Given the description of an element on the screen output the (x, y) to click on. 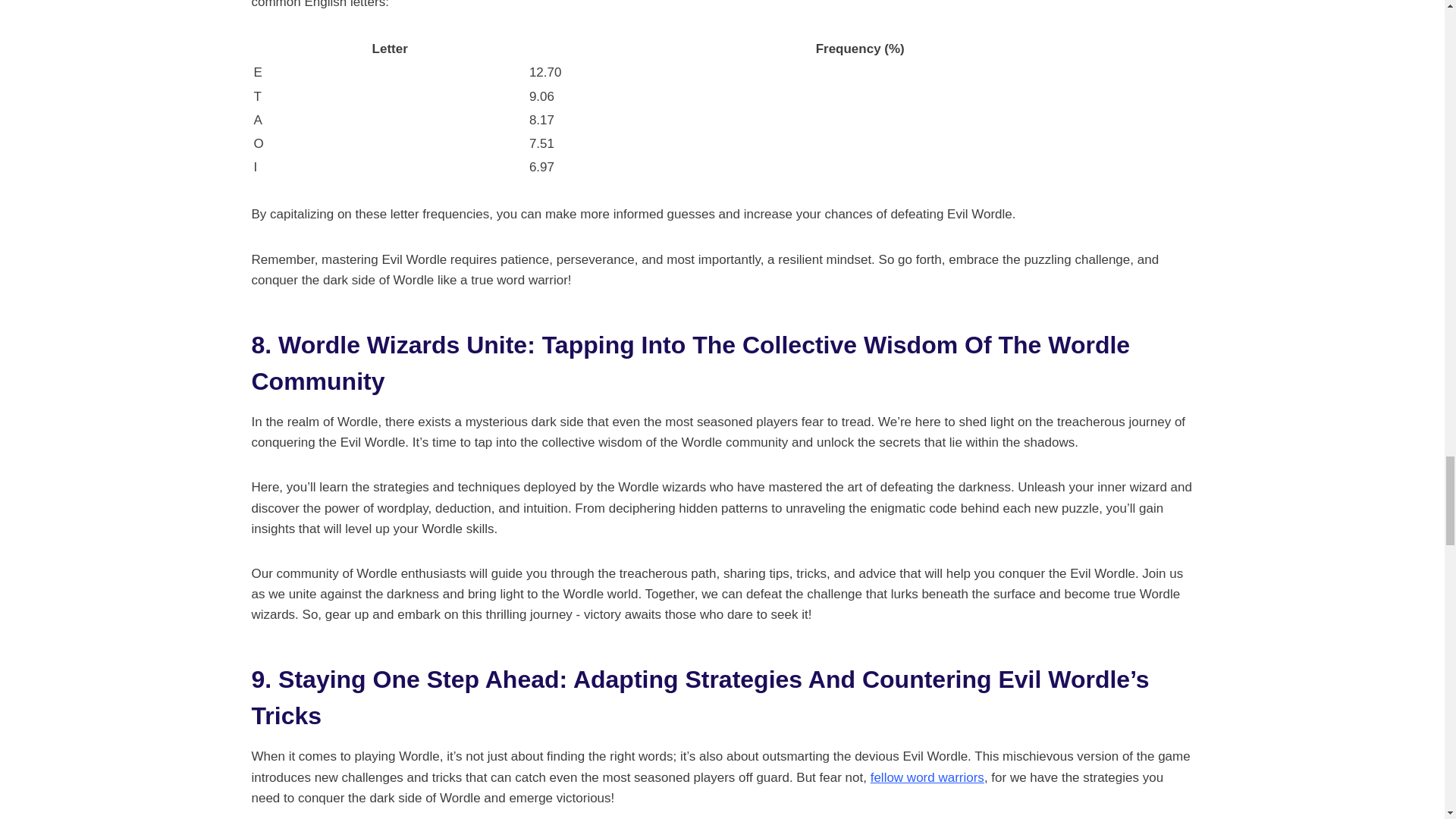
Wordle Meets Phrazle: An Epic Word Battle (927, 777)
fellow word warriors (927, 777)
